Given the description of an element on the screen output the (x, y) to click on. 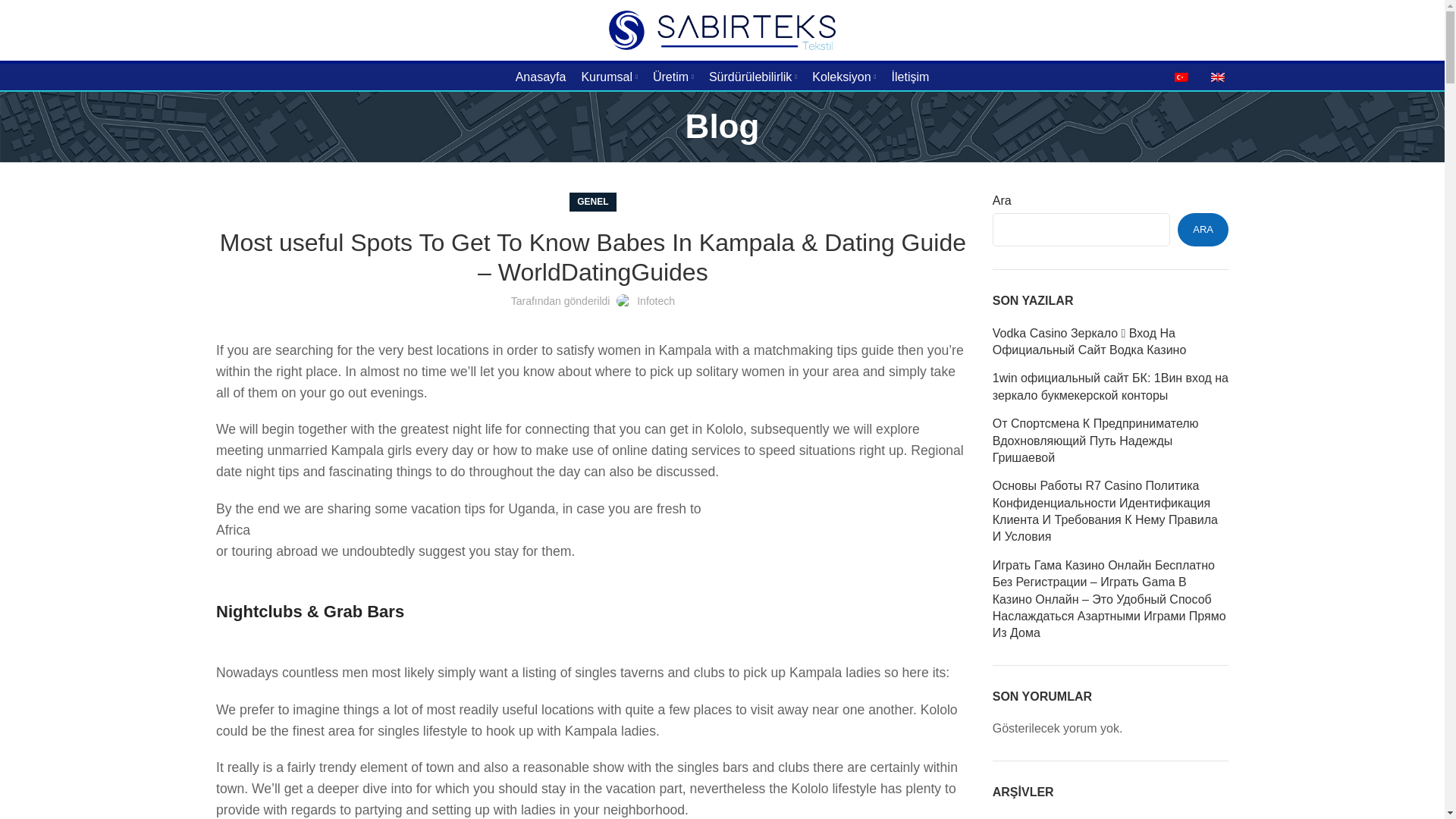
English (1217, 76)
Kurumsal (609, 77)
Anasayfa (540, 77)
Turkish (1181, 76)
Koleksiyon (844, 77)
Infotech (656, 300)
GENEL (592, 201)
